Given the description of an element on the screen output the (x, y) to click on. 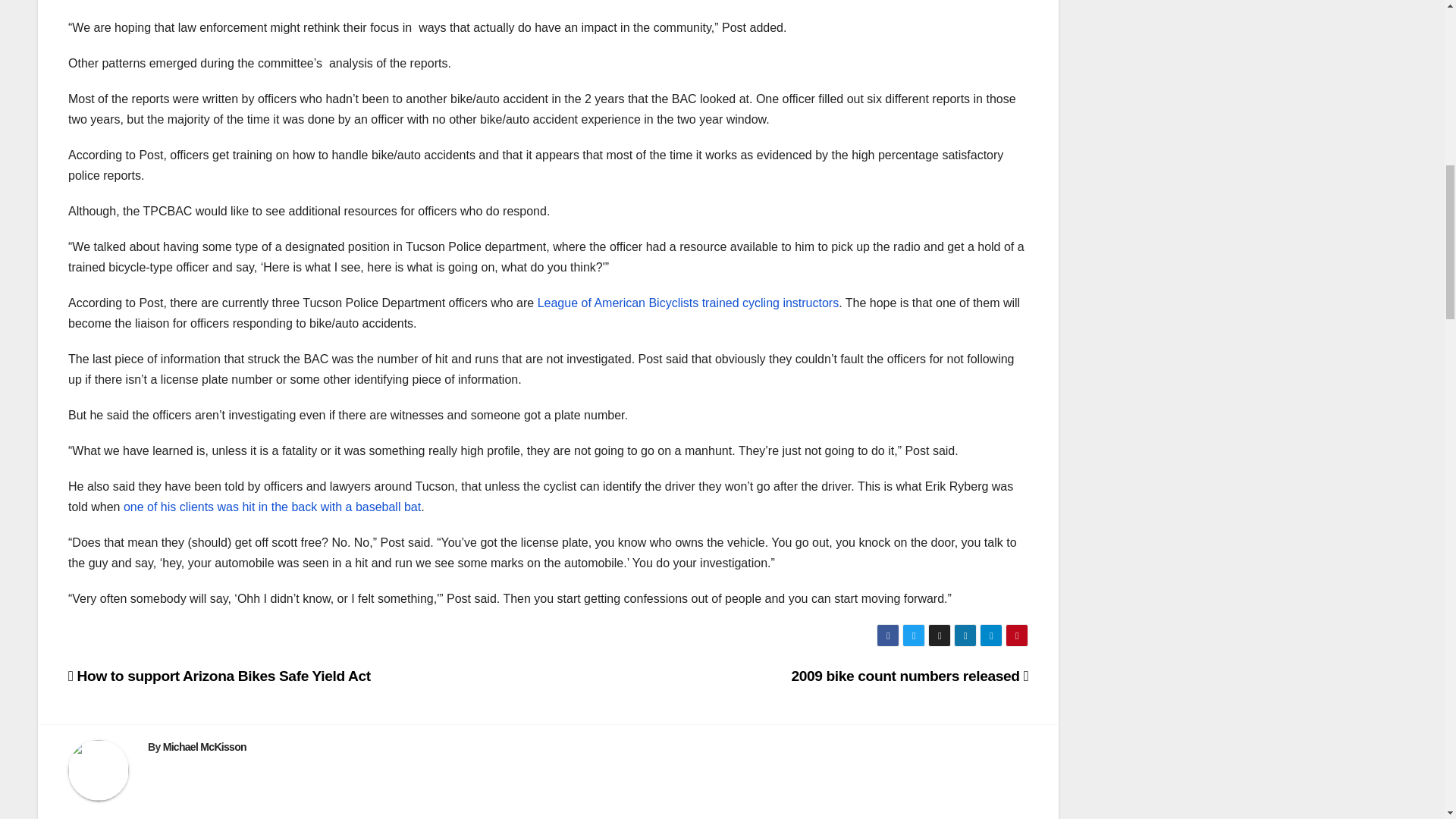
one of his clients was hit in the back with a baseball bat (271, 506)
League of American Bicyclists trained cycling instructors (688, 302)
